Given the description of an element on the screen output the (x, y) to click on. 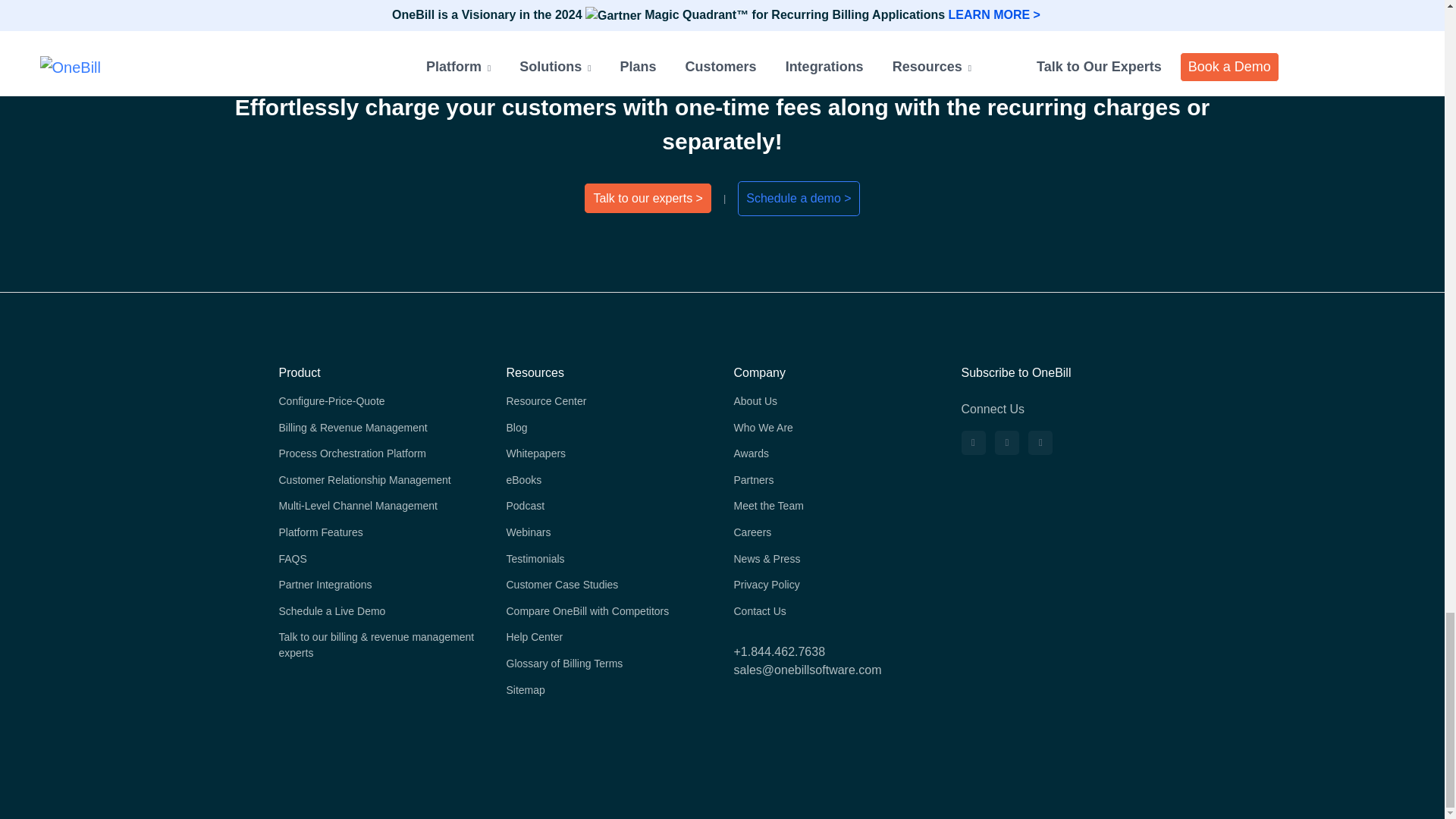
LinkedIn (972, 442)
Twitter (1006, 442)
Facebook (1039, 442)
